Given the description of an element on the screen output the (x, y) to click on. 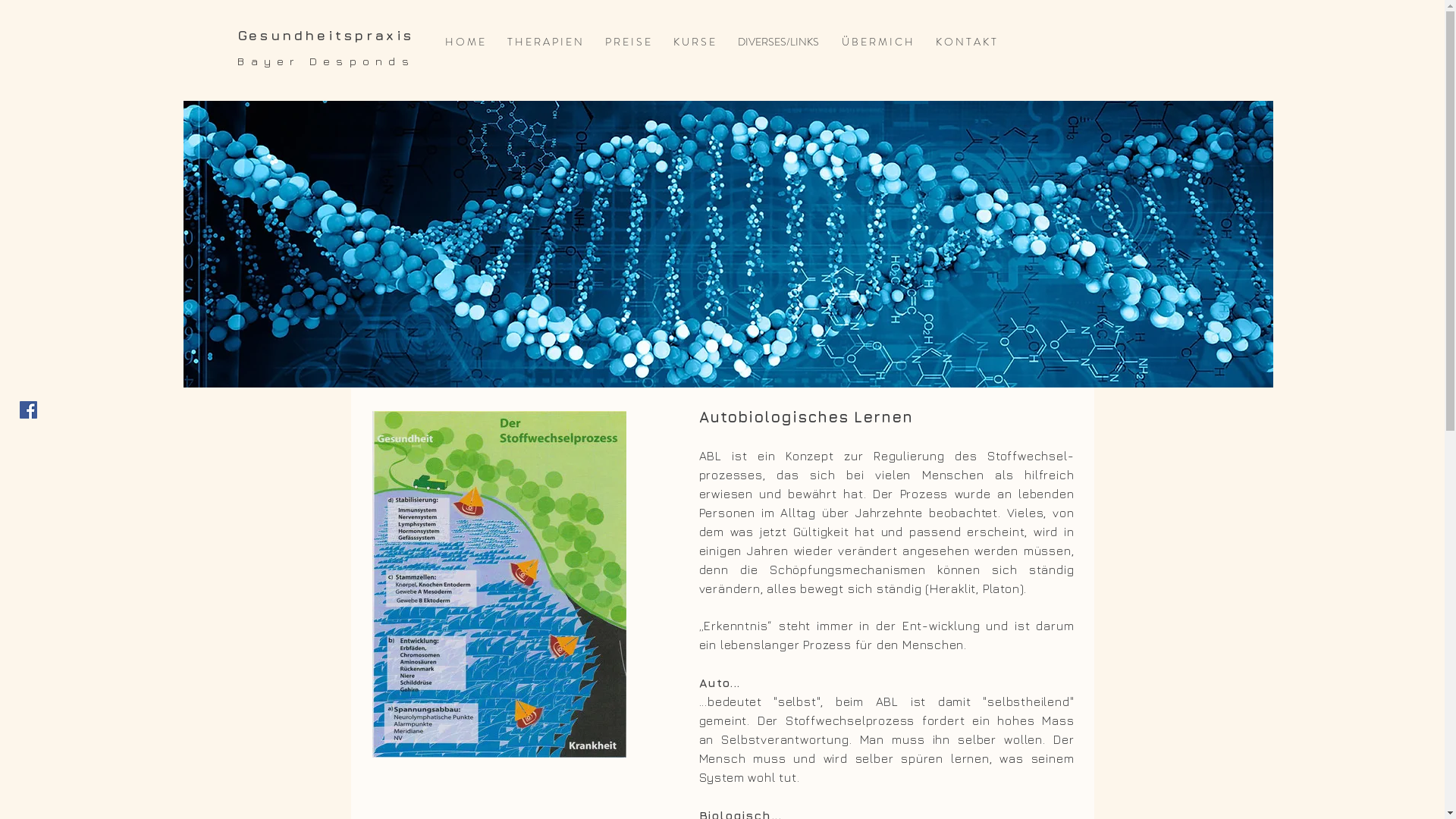
P R E I S E Element type: text (627, 41)
Gesundheitspraxis Element type: text (326, 35)
DIVERSES/LINKS Element type: text (778, 41)
H O M E Element type: text (464, 41)
K O N T A K T Element type: text (965, 41)
K U R S E Element type: text (694, 41)
